Given the description of an element on the screen output the (x, y) to click on. 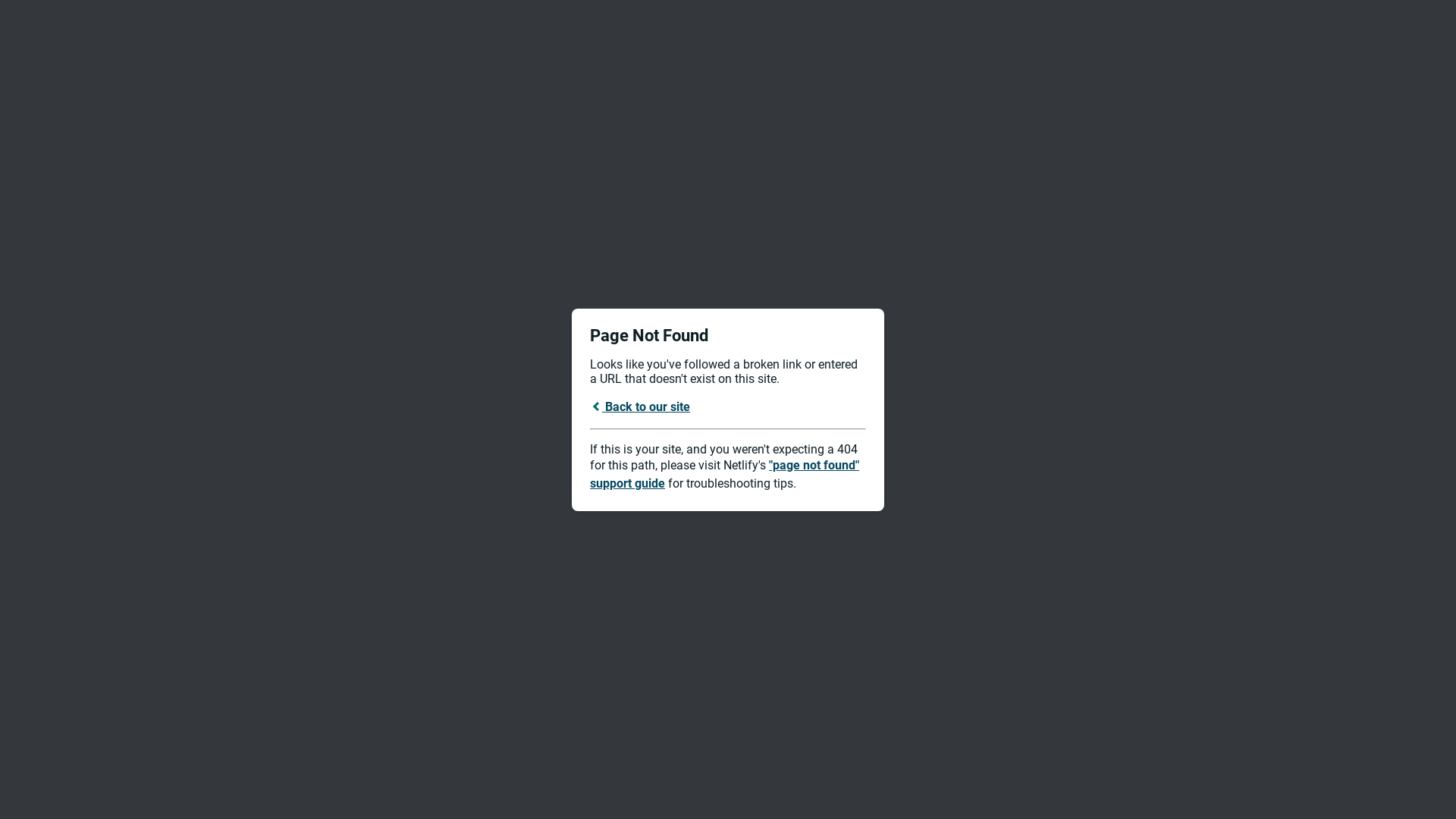
Back to our site Element type: text (639, 405)
"page not found" support guide Element type: text (724, 474)
